Given the description of an element on the screen output the (x, y) to click on. 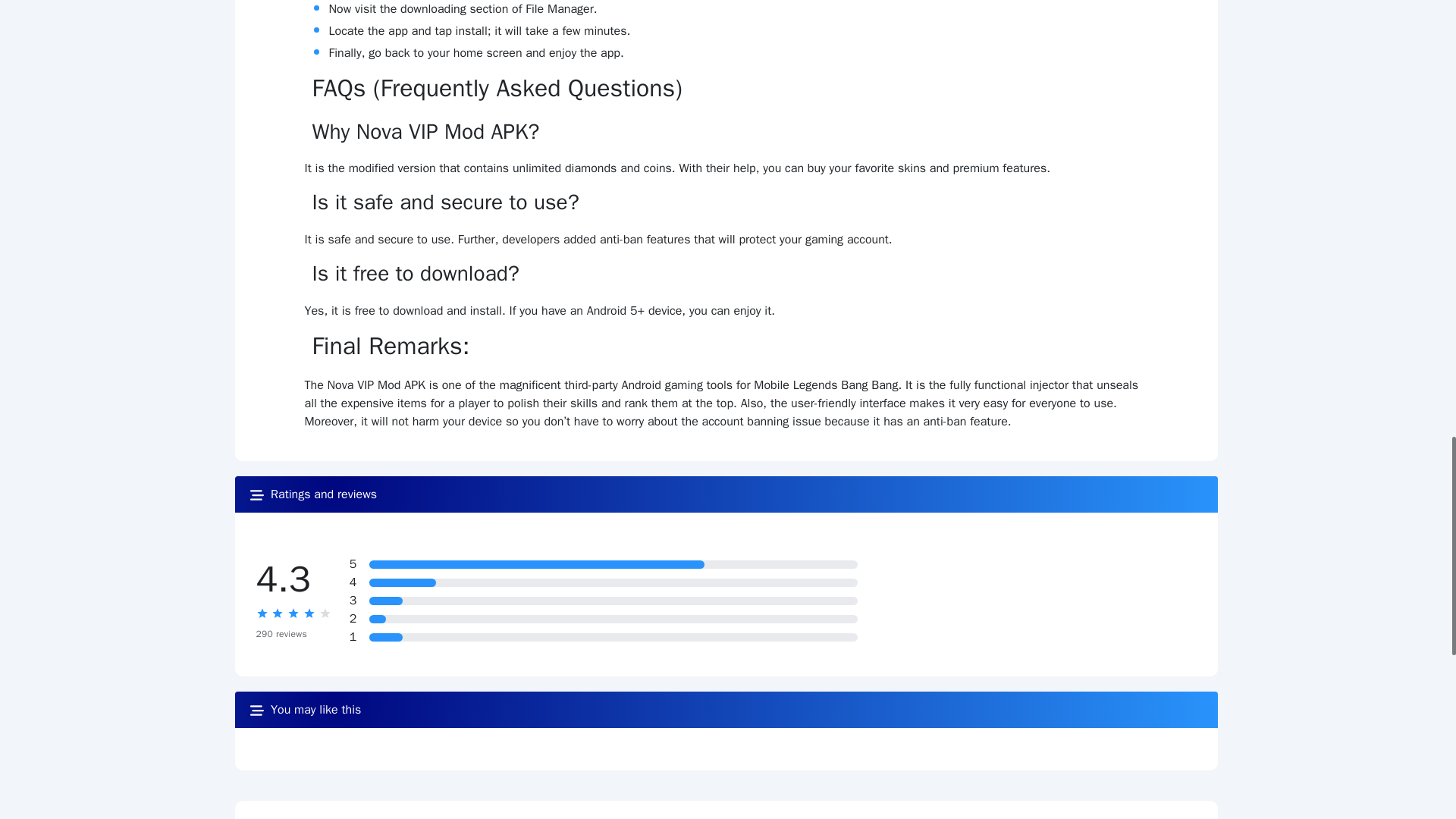
200 (536, 564)
20 (386, 601)
10 (377, 619)
40 (402, 582)
